Given the description of an element on the screen output the (x, y) to click on. 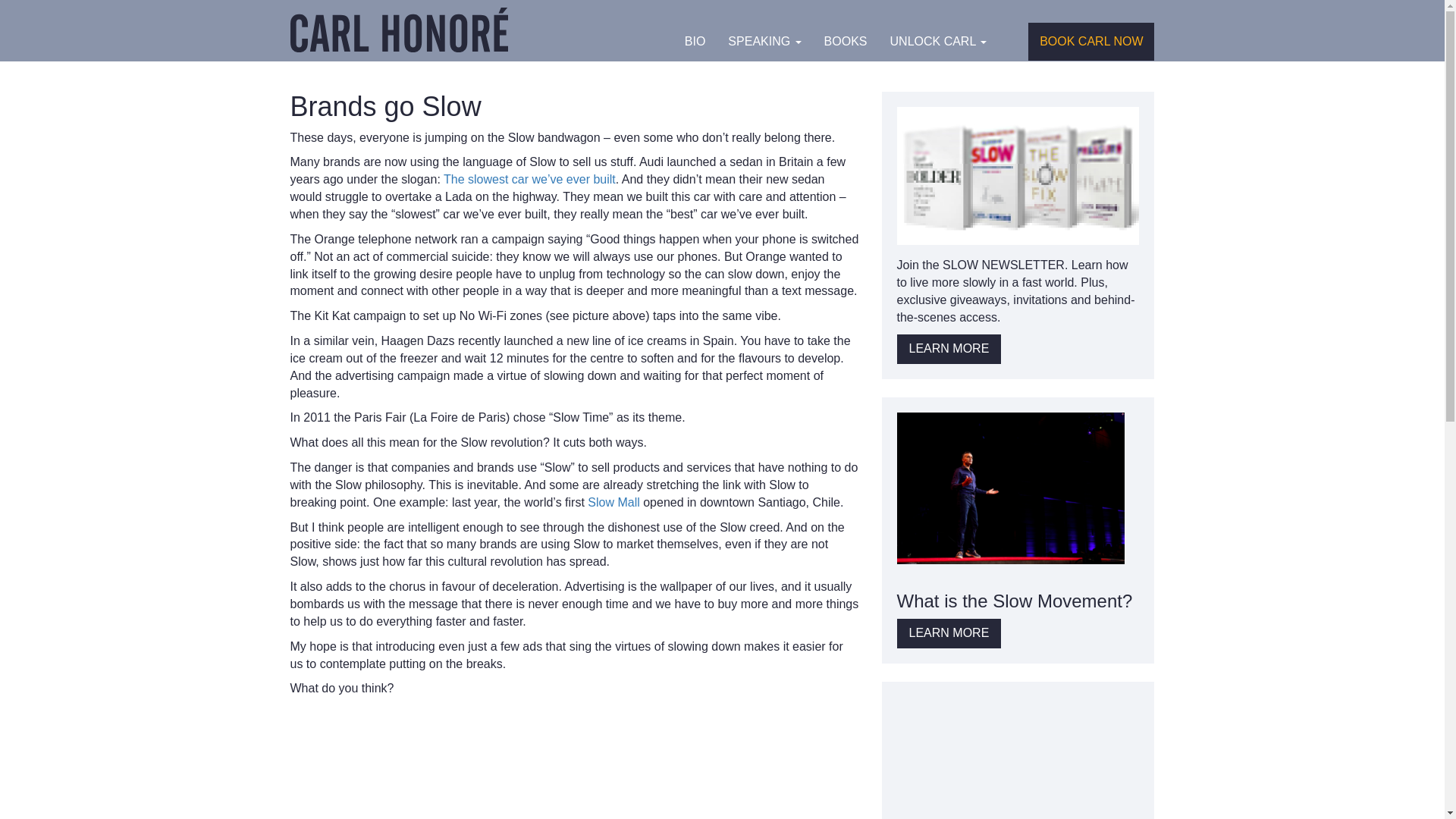
BOOK CARL NOW (1090, 41)
BIO (694, 41)
What is the Slow Movement? (1014, 599)
SPEAKING (764, 41)
Unlock Carl (938, 41)
UNLOCK CARL (938, 41)
Speaking (764, 41)
LEARN MORE (948, 633)
Book Carl Now (1090, 41)
BIO (694, 41)
